Given the description of an element on the screen output the (x, y) to click on. 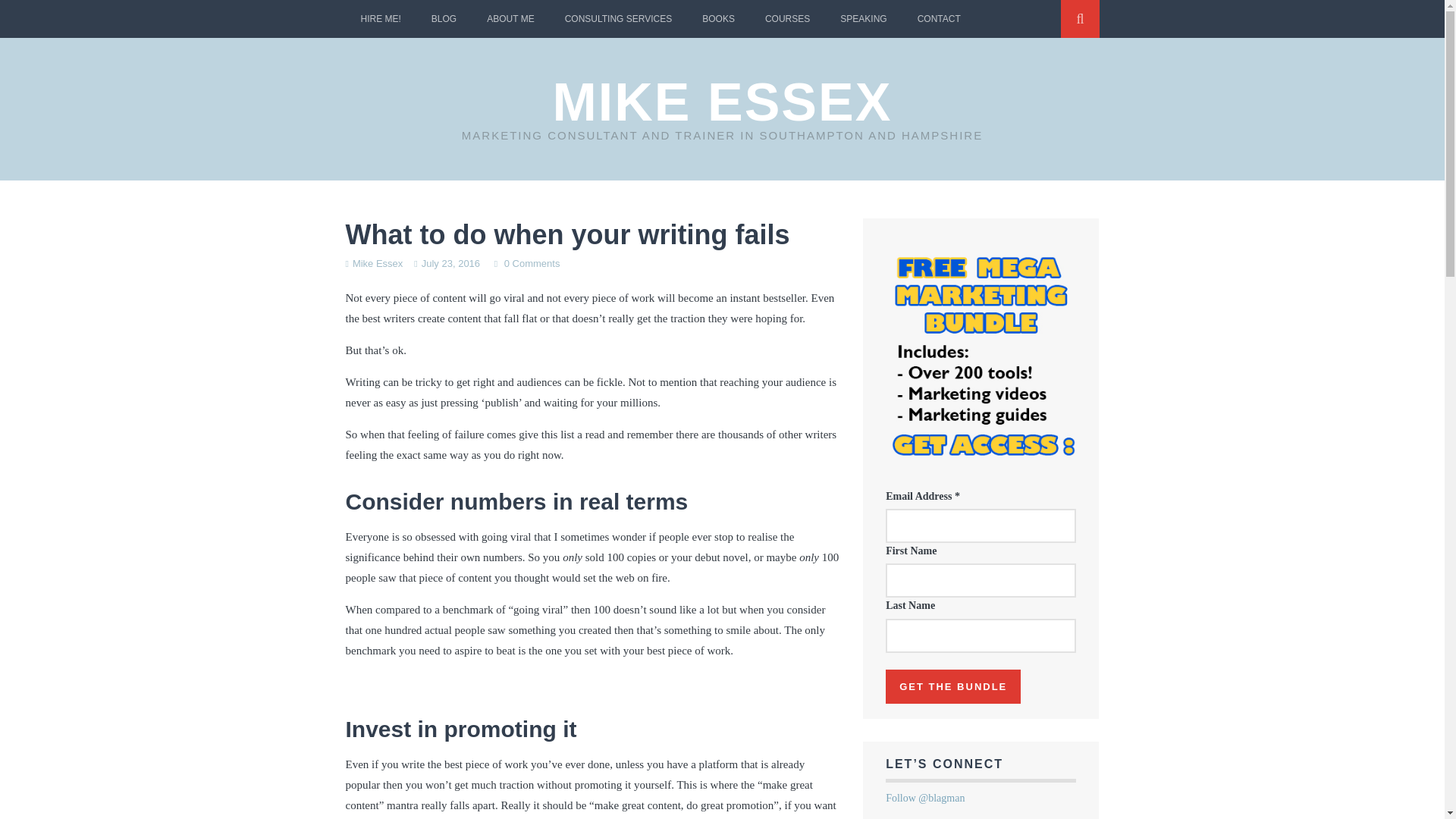
CONTACT (938, 18)
Get the Bundle (952, 686)
BOOKS (718, 18)
COURSES (787, 18)
ABOUT ME (509, 18)
Mike Essex (377, 263)
July 23, 2016 (451, 263)
SPEAKING (863, 18)
Get the Bundle (952, 686)
HIRE ME! (381, 18)
